Given the description of an element on the screen output the (x, y) to click on. 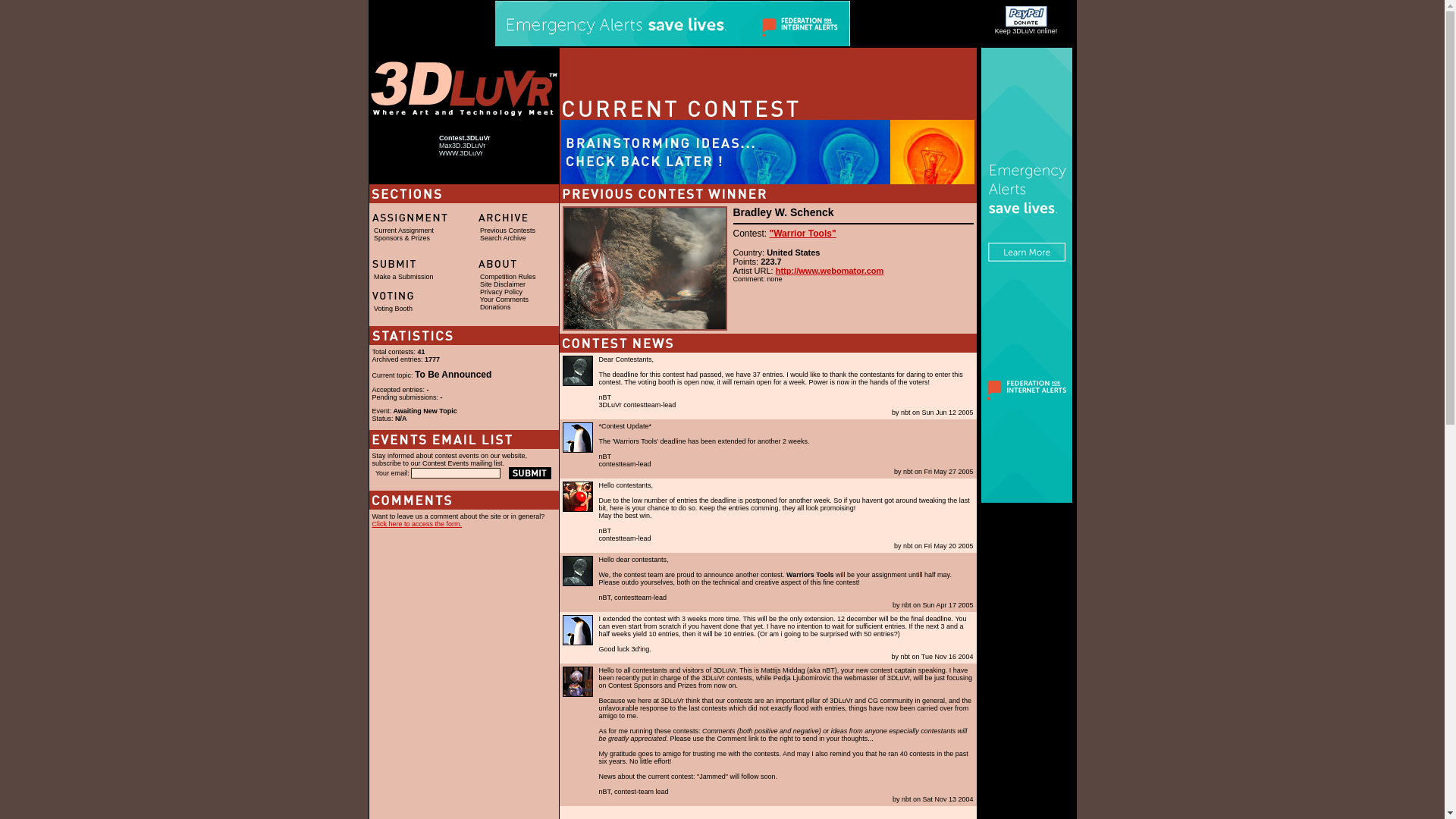
Contest.3DLuVr Element type: text (464, 137)
Max3D.3DLuVr Element type: text (462, 145)
Your Comments Element type: text (504, 299)
Current Assignment Element type: text (403, 230)
Privacy Policy Element type: text (501, 291)
Previous Contests Element type: text (507, 230)
Click here to access the form. Element type: text (416, 523)
Search Archive Element type: text (503, 237)
WWW.3DLuVr Element type: text (461, 152)
Site Disclaimer Element type: text (502, 284)
Sponsors & Prizes Element type: text (401, 237)
Donations Element type: text (495, 306)
Competition Rules Element type: text (508, 276)
http://www.webomator.com Element type: text (829, 270)
Voting Booth Element type: text (392, 308)
"Warrior Tools" Element type: text (802, 233)
Make a Submission Element type: text (403, 276)
